Given the description of an element on the screen output the (x, y) to click on. 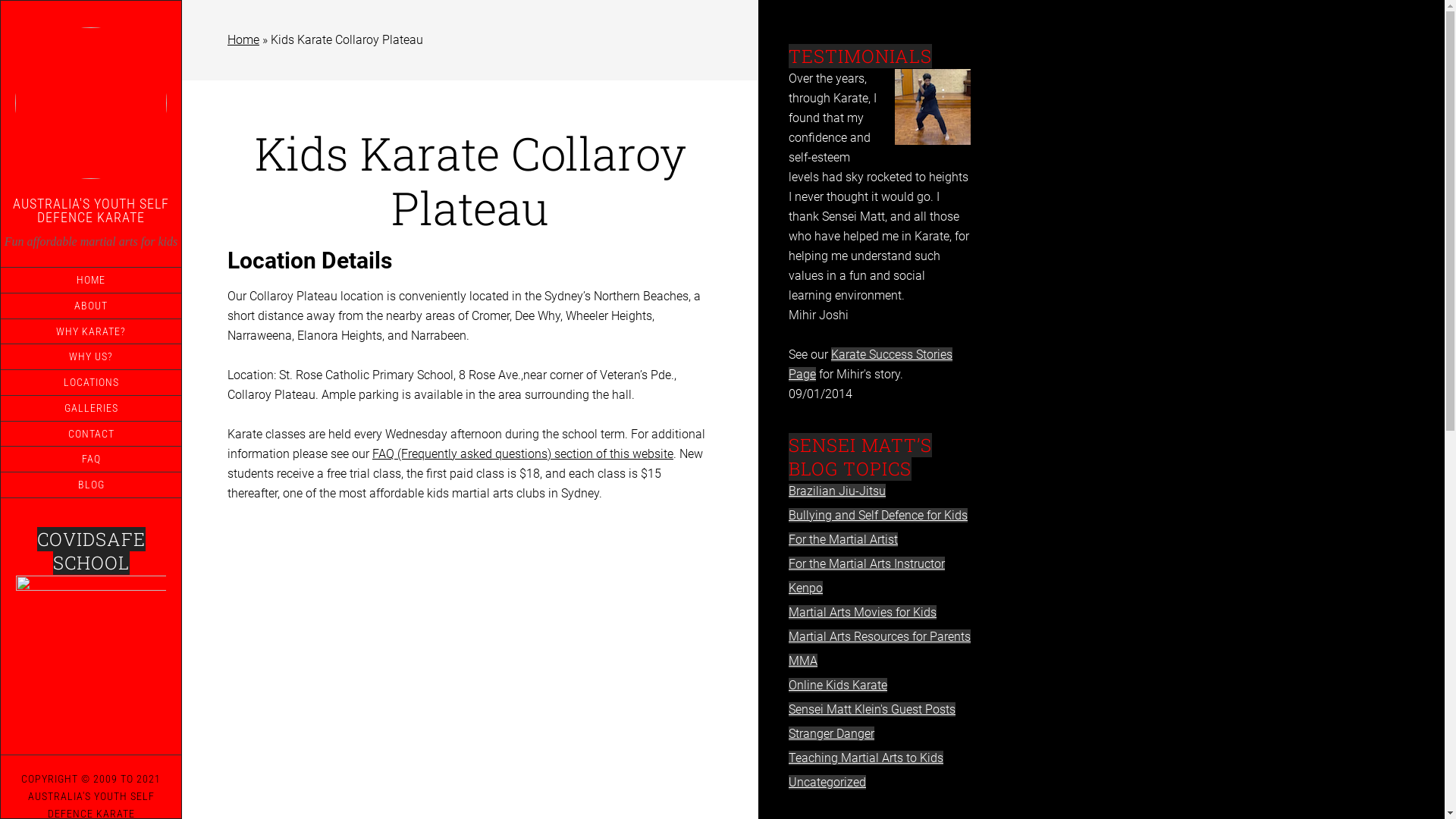
WHY KARATE? Element type: text (90, 330)
Kenpo Element type: text (805, 587)
Teaching Martial Arts to Kids Element type: text (865, 757)
MMA Element type: text (802, 660)
Online Kids Karate Element type: text (837, 684)
Home Element type: text (243, 39)
Martial Arts Resources for Parents Element type: text (879, 636)
HOME Element type: text (90, 279)
Stranger Danger Element type: text (831, 733)
Brazilian Jiu-Jitsu Element type: text (836, 490)
WHY US? Element type: text (90, 356)
LOCATIONS Element type: text (90, 382)
BLOG Element type: text (90, 484)
CONTACT Element type: text (90, 433)
Sensei Matt Klein's Guest Posts Element type: text (871, 709)
active kids Element type: hover (90, 649)
FAQ Element type: text (90, 458)
AUSTRALIA'S YOUTH SELF DEFENCE KARATE Element type: text (90, 210)
For the Martial Artist Element type: text (842, 539)
GALLERIES Element type: text (90, 407)
Martial Arts Movies for Kids Element type: text (862, 612)
For the Martial Arts Instructor Element type: text (866, 563)
FAQ (Frequently asked questions) section of this website Element type: text (522, 453)
Bullying and Self Defence for Kids Element type: text (877, 515)
Karate Success Stories Page Element type: text (870, 364)
Uncategorized Element type: text (827, 782)
ABOUT Element type: text (90, 305)
